Given the description of an element on the screen output the (x, y) to click on. 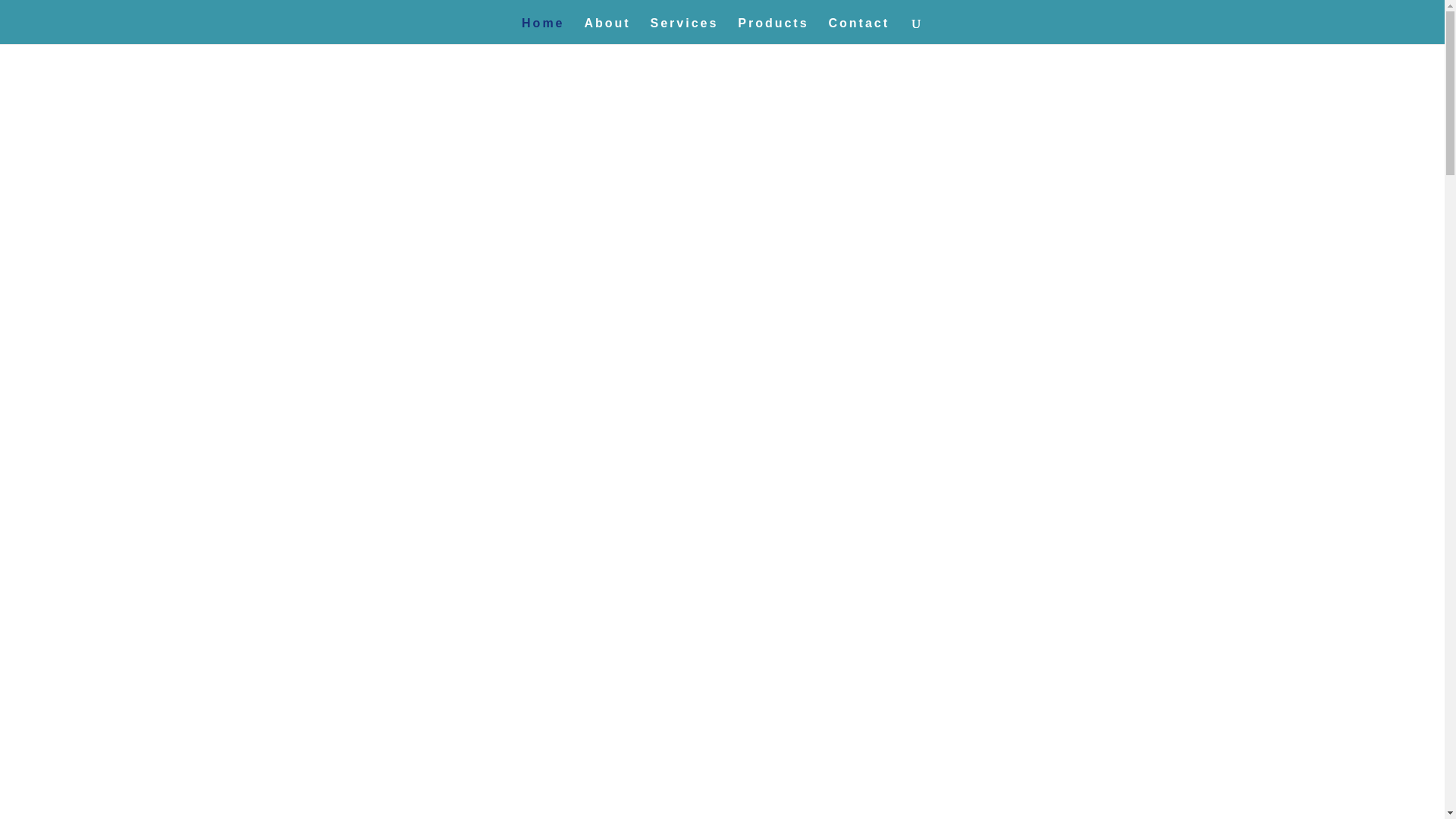
Products (773, 31)
Home (542, 31)
Contact (858, 31)
About (606, 31)
Services (684, 31)
